Given the description of an element on the screen output the (x, y) to click on. 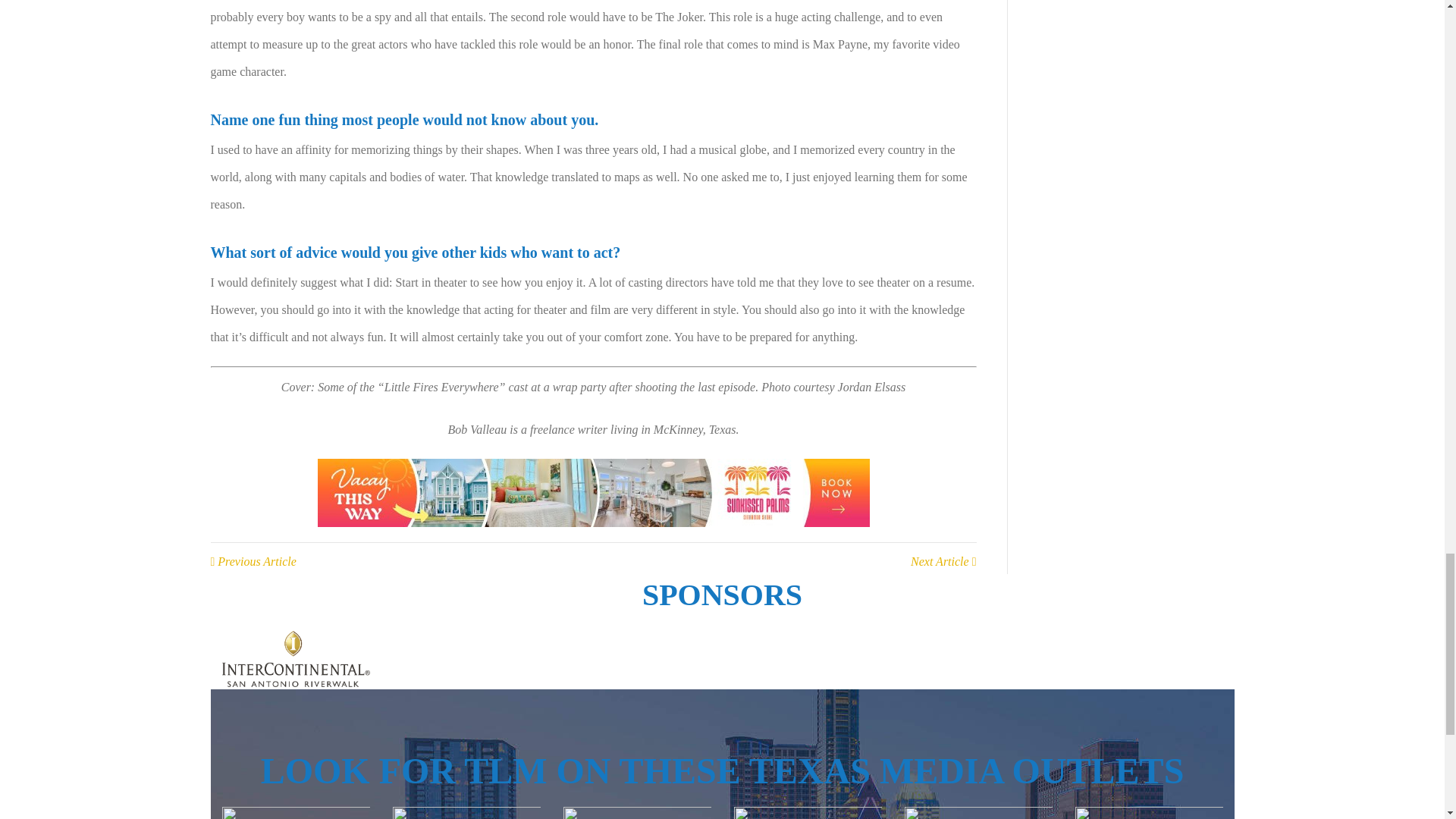
KHOU (636, 812)
Daytime (295, 812)
Daytime (807, 812)
Studio 512 (1149, 812)
SA Living (977, 812)
KVUE (466, 812)
Intercontinental SA Logo (295, 658)
